Given the description of an element on the screen output the (x, y) to click on. 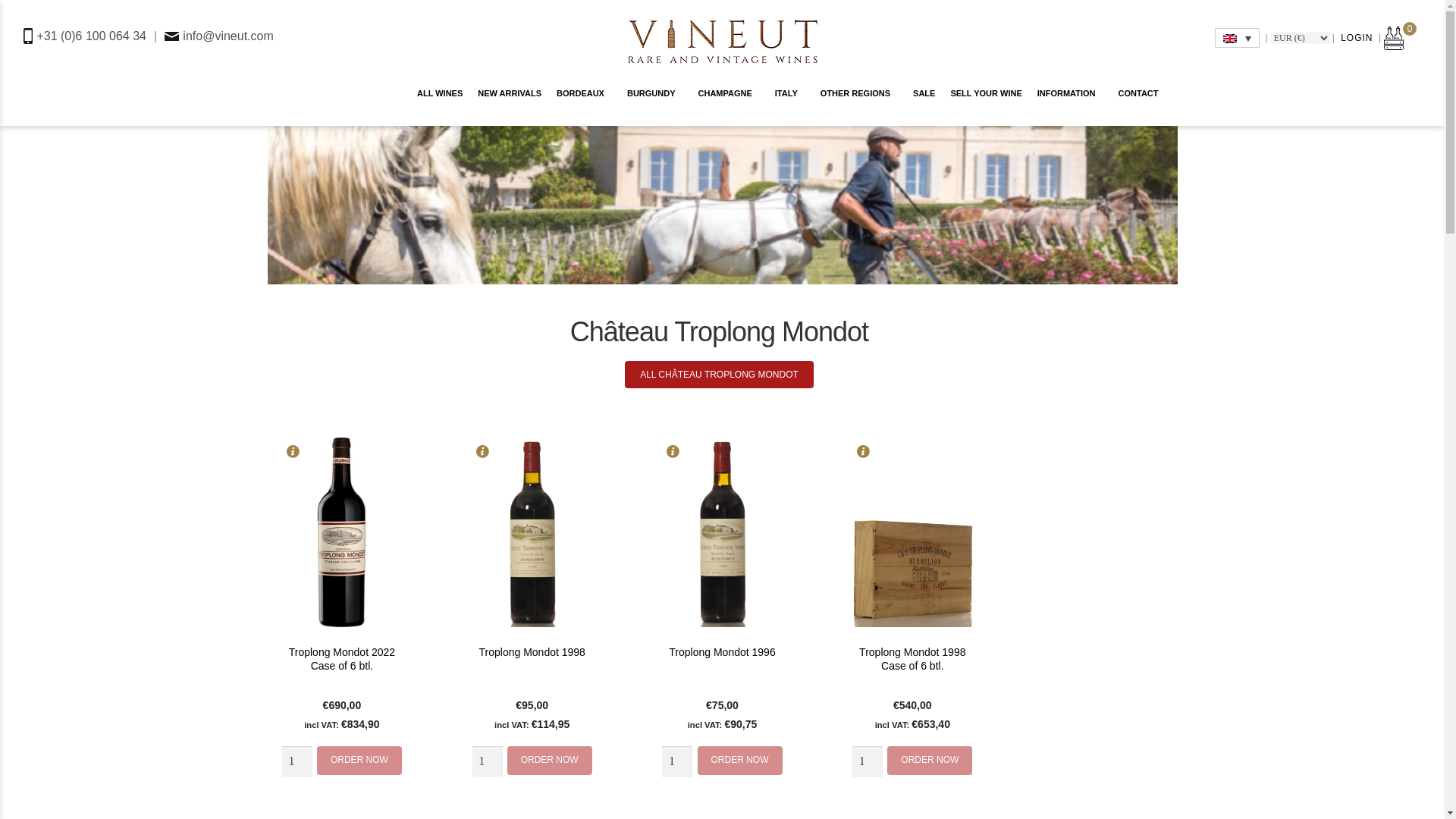
1 (486, 761)
1 (297, 761)
1 (866, 761)
1 (677, 761)
